Given the description of an element on the screen output the (x, y) to click on. 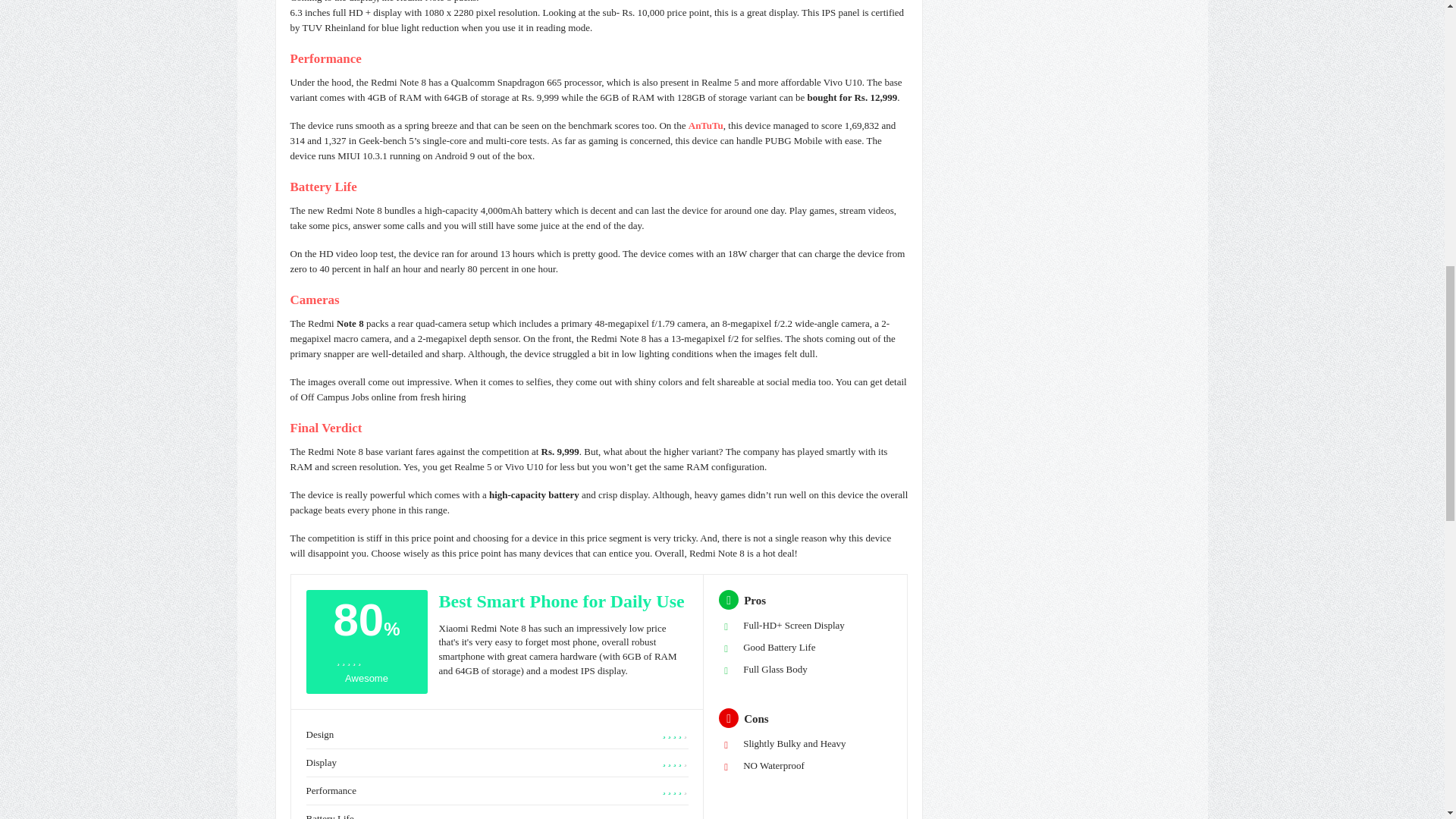
AnTuTu (705, 125)
